Given the description of an element on the screen output the (x, y) to click on. 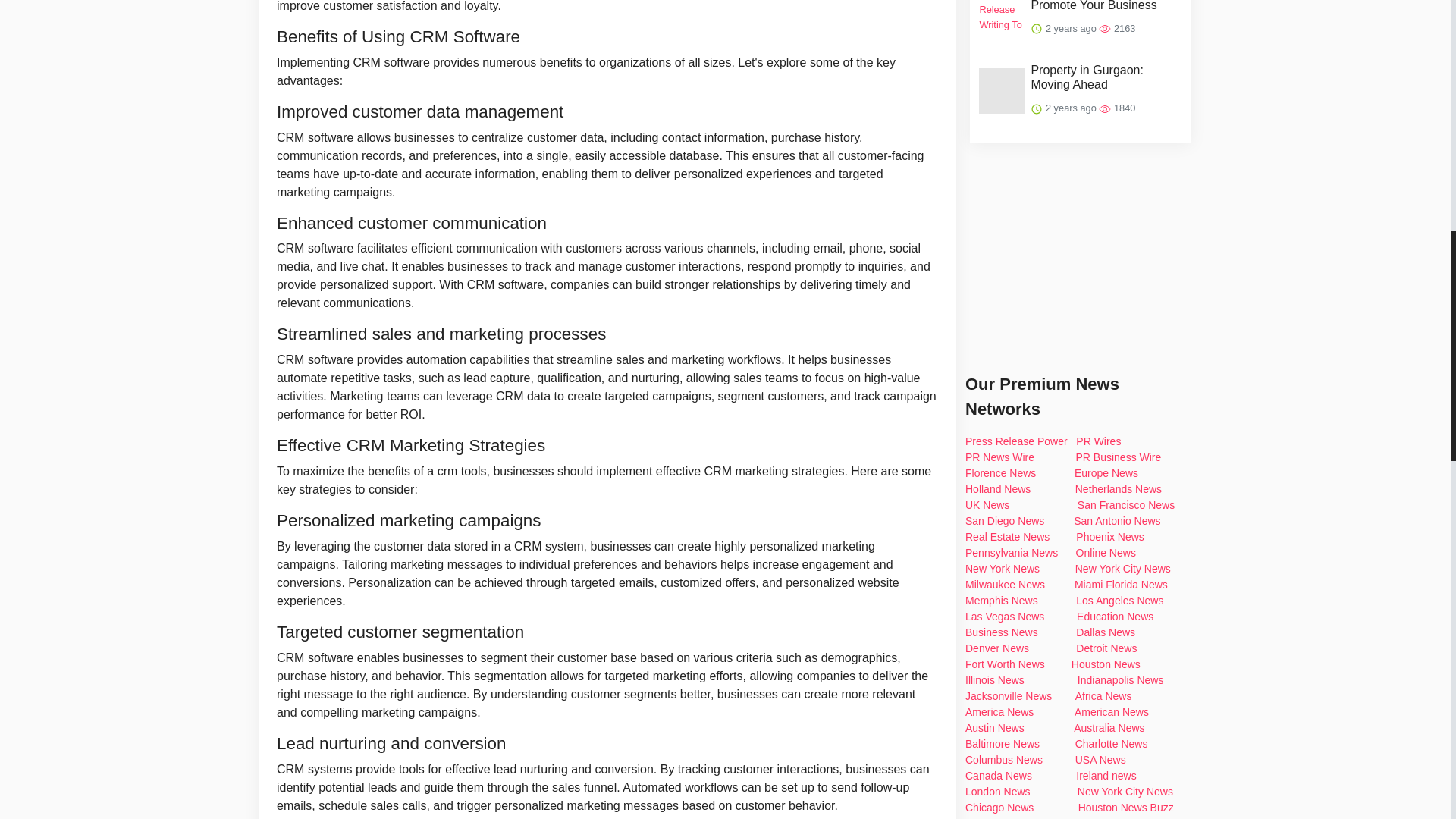
crm tools (462, 471)
CRM software (314, 137)
